Given the description of an element on the screen output the (x, y) to click on. 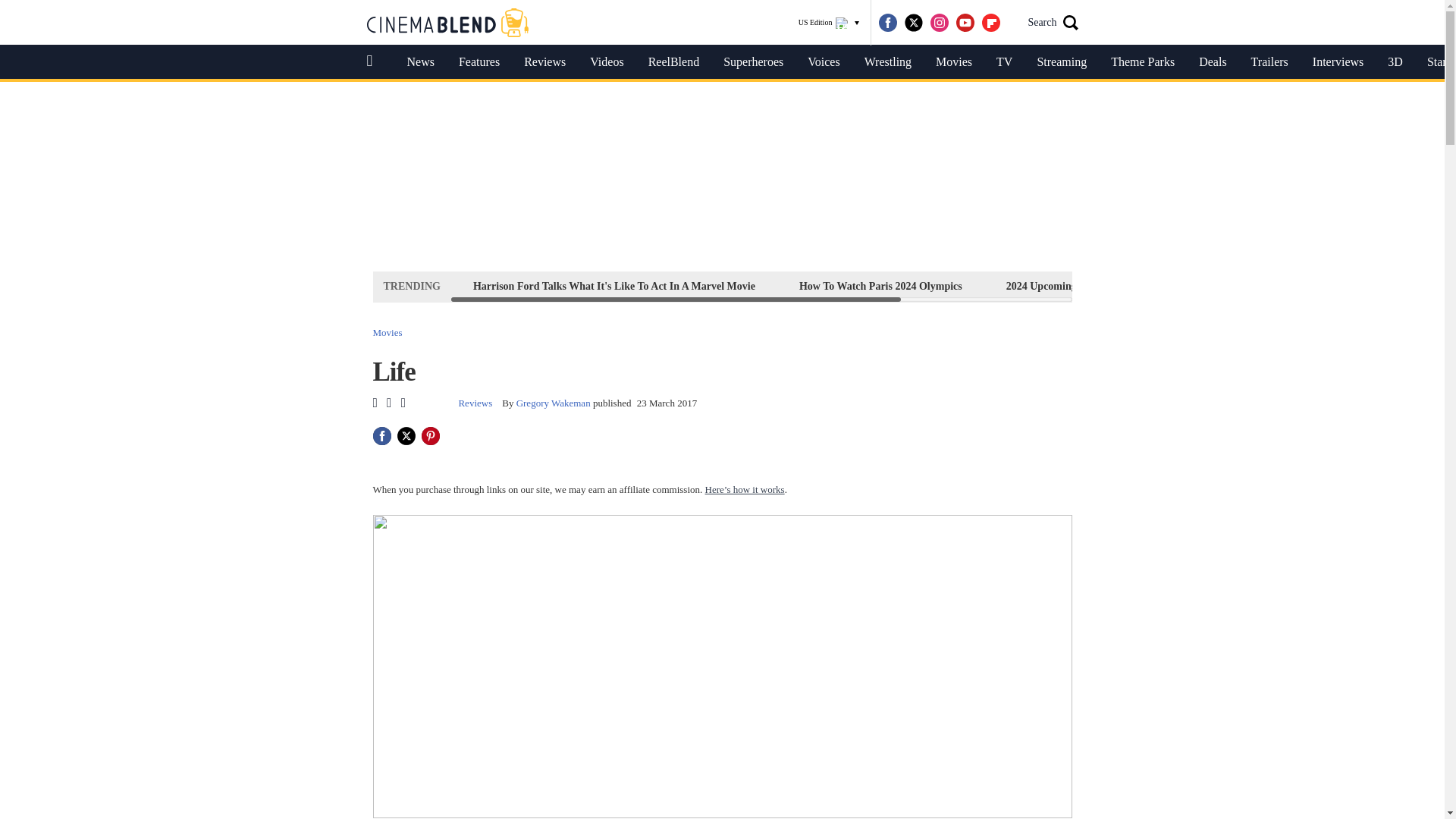
Deals (1212, 61)
3D (1395, 61)
Videos (606, 61)
Superheroes (752, 61)
100 Best Sitcoms Of All Time (1221, 286)
How To Watch Paris 2024 Olympics (880, 286)
Features (479, 61)
Theme Parks (1142, 61)
Streaming (1062, 61)
US Edition (828, 22)
News (419, 61)
Movies (387, 332)
Reviews (545, 61)
2024 Upcoming Movies (1058, 286)
Trailers (1269, 61)
